Given the description of an element on the screen output the (x, y) to click on. 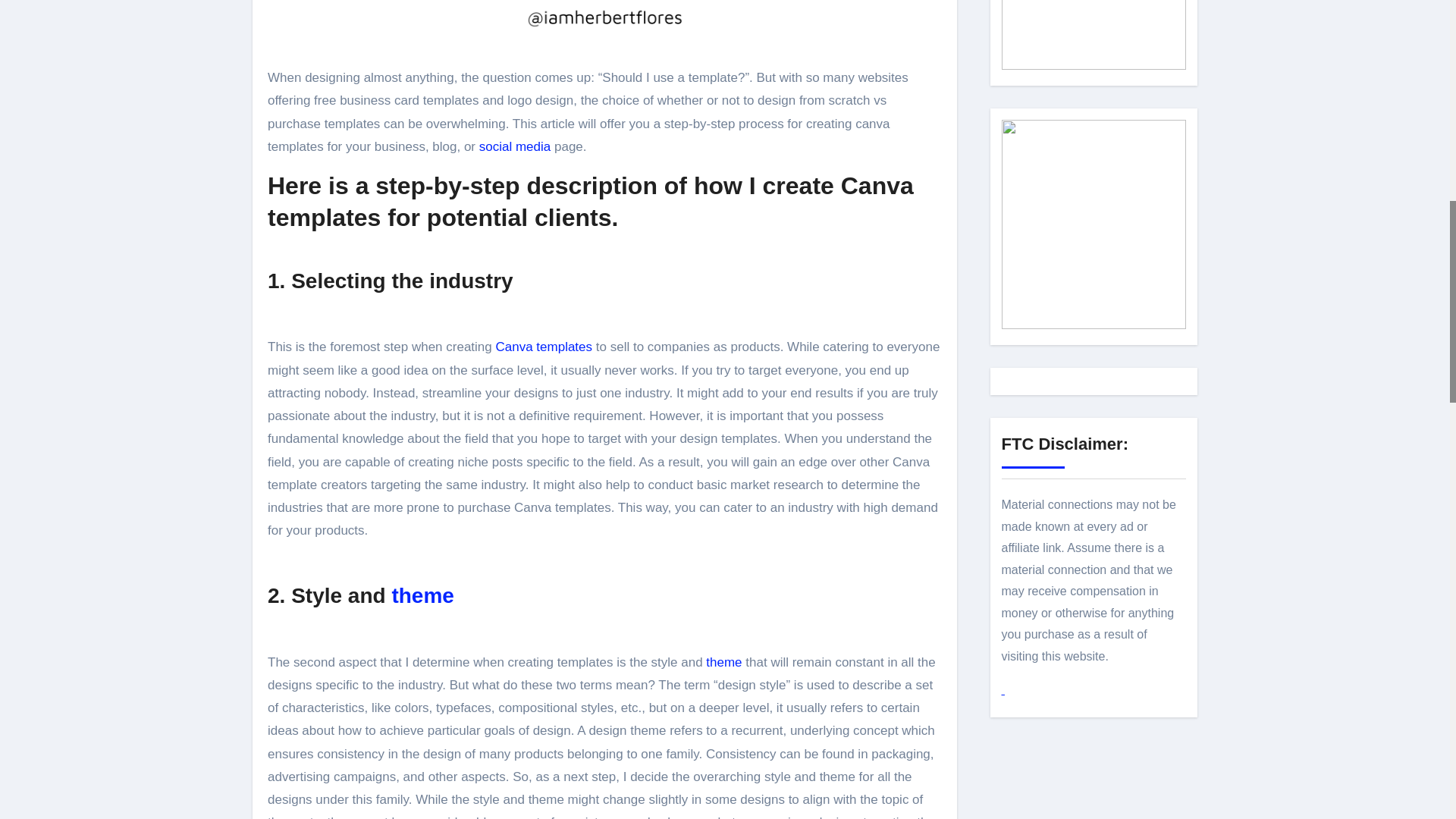
theme (723, 662)
Posts tagged with social media (515, 146)
Posts tagged with theme (723, 662)
Canva templates (543, 346)
social media (515, 146)
theme (421, 595)
Posts tagged with theme (421, 595)
